Given the description of an element on the screen output the (x, y) to click on. 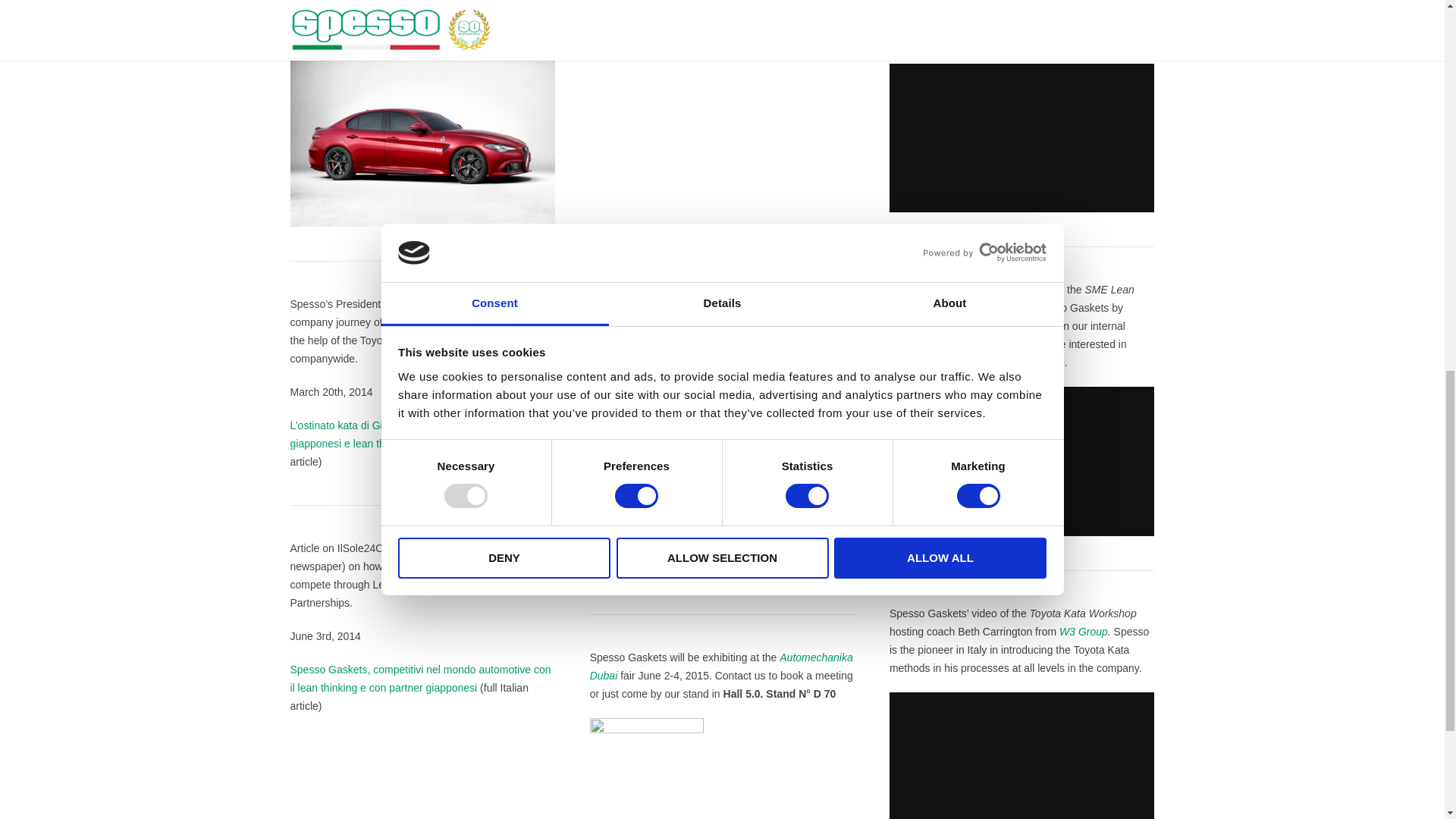
Back to top (1413, 20)
